Given the description of an element on the screen output the (x, y) to click on. 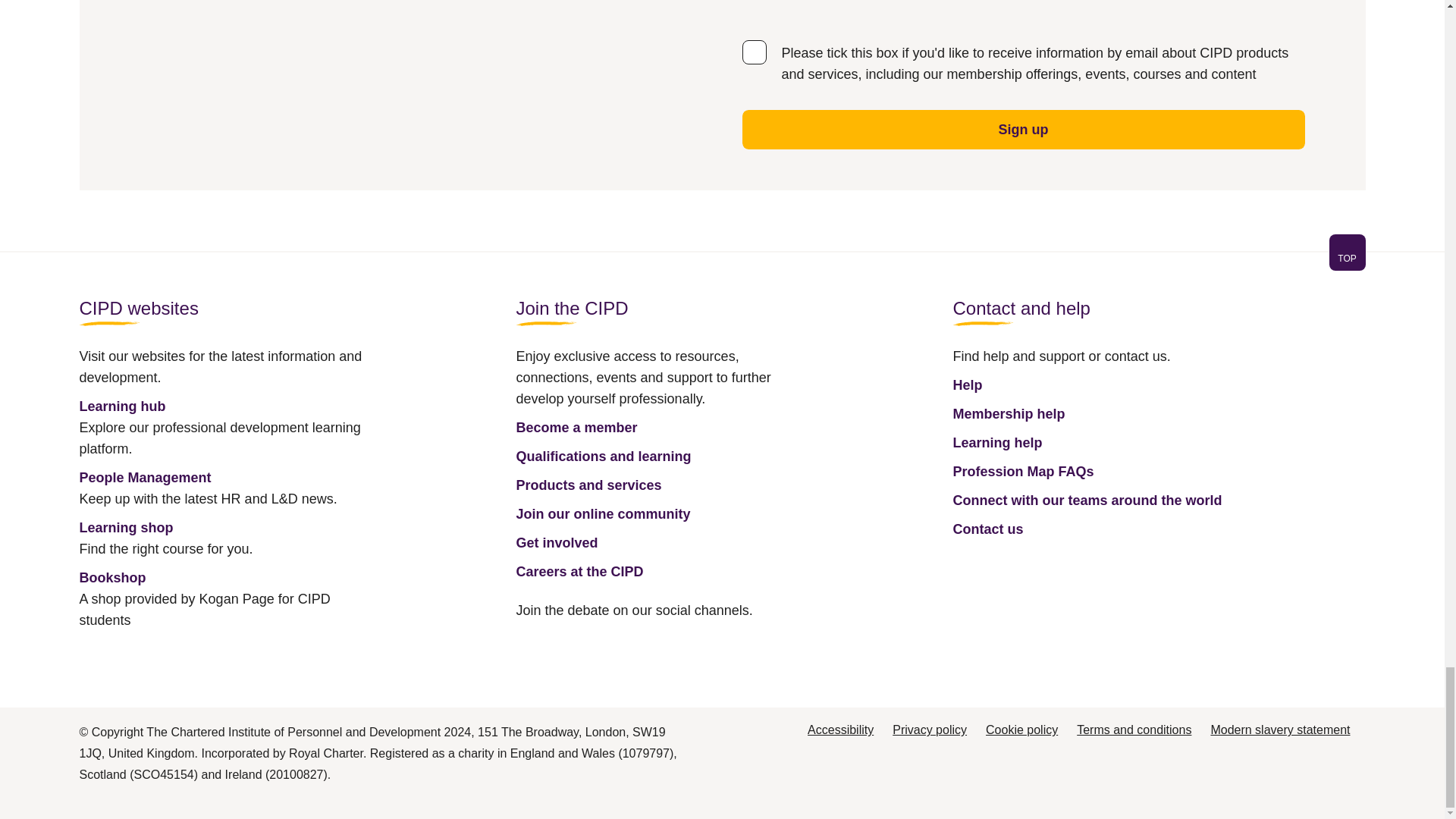
Consented (753, 52)
TOP (1346, 252)
TOP (1346, 258)
TOP (721, 261)
